Given the description of an element on the screen output the (x, y) to click on. 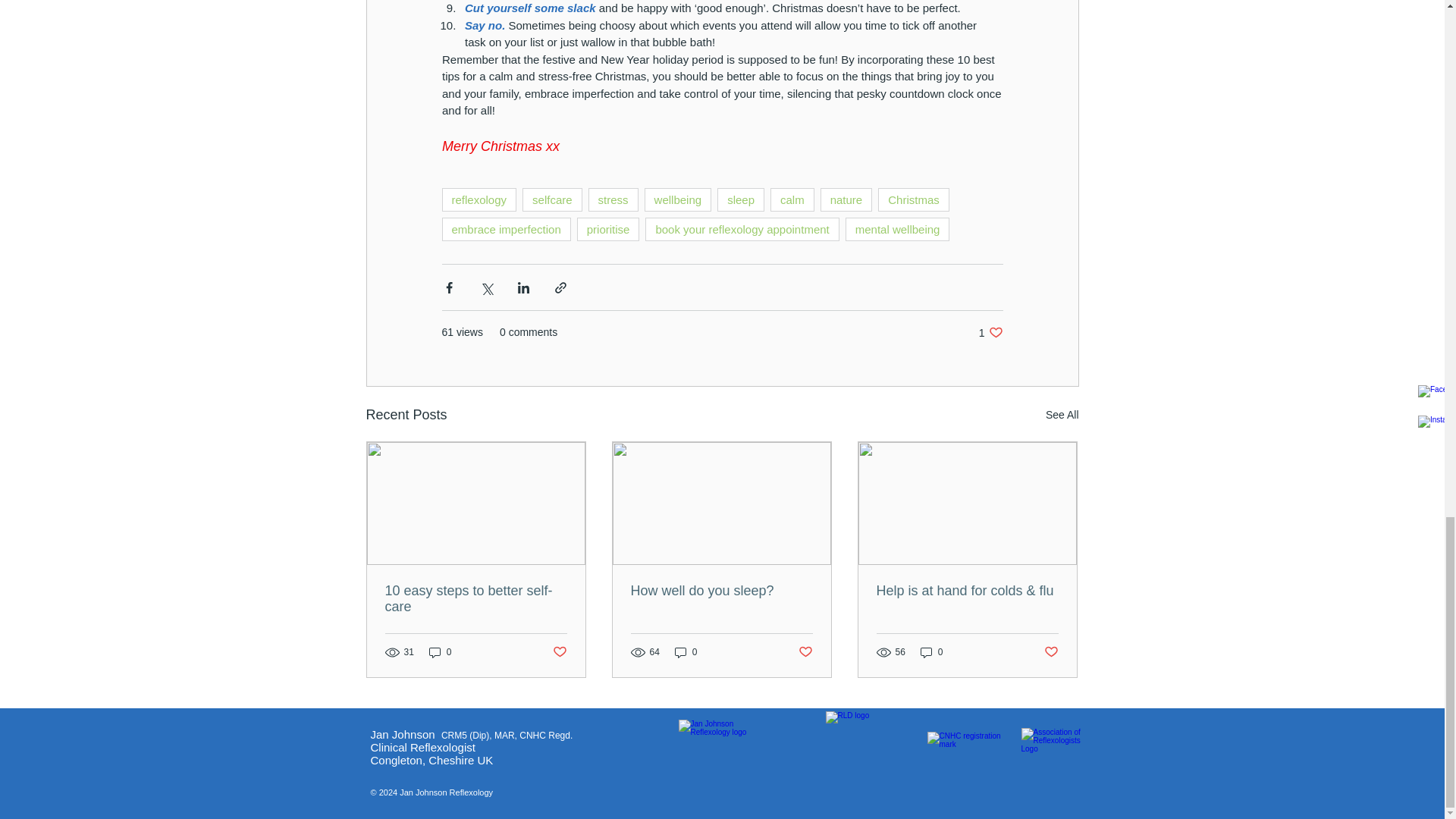
CNHC professional register (965, 760)
selfcare (552, 199)
reflexology (478, 199)
Member of the Association of Reflexologists (1053, 760)
nature (846, 199)
wellbeing (678, 199)
Reflexology Lymph Drainage, Approved Practitioner (876, 757)
calm (791, 199)
stress (613, 199)
sleep (740, 199)
